Given the description of an element on the screen output the (x, y) to click on. 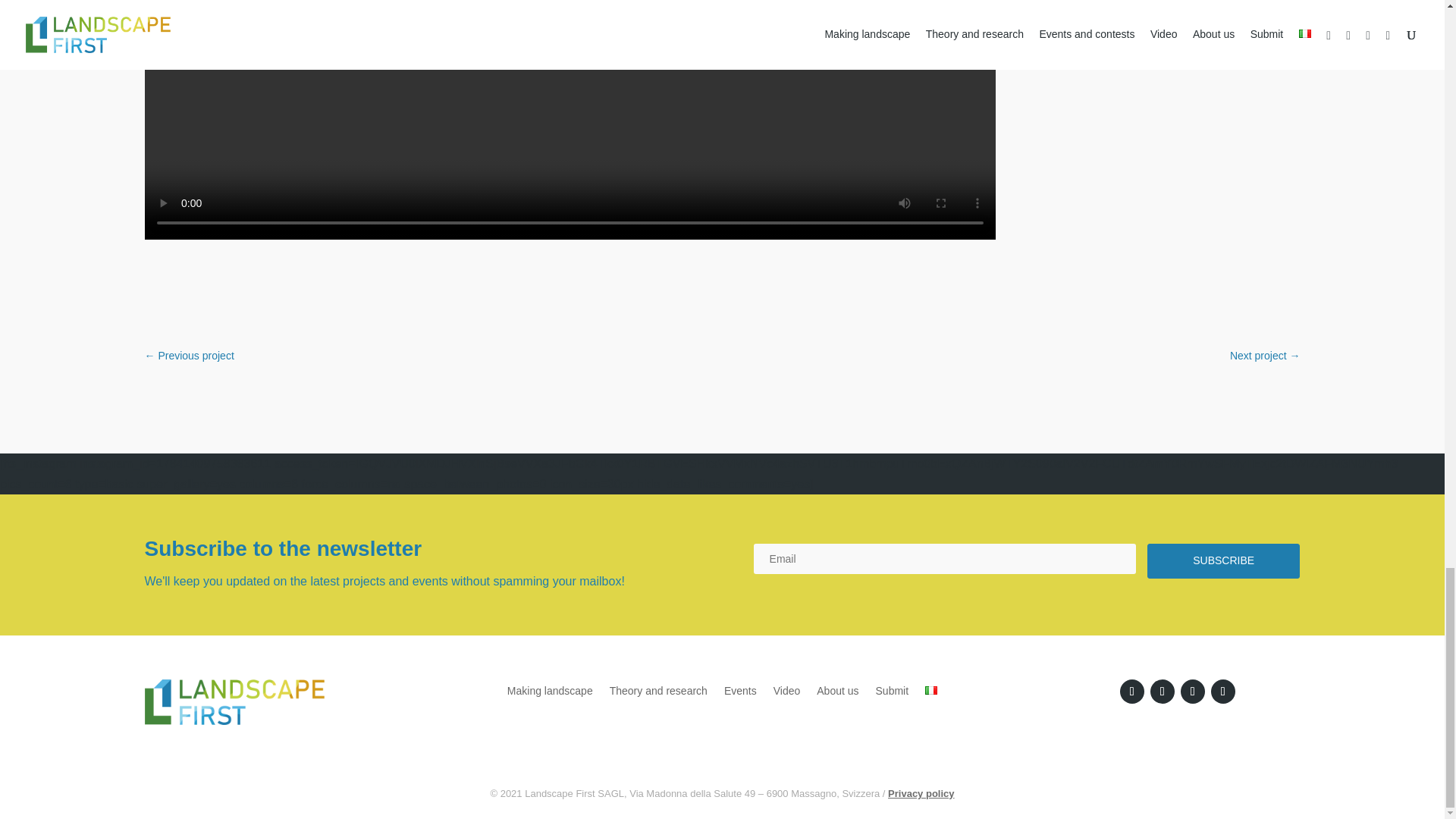
SUBSCRIBE (1223, 560)
Theory and research (658, 687)
Making landscape (549, 687)
Events (740, 687)
Video (786, 687)
About us (837, 687)
Submit (892, 687)
